Given the description of an element on the screen output the (x, y) to click on. 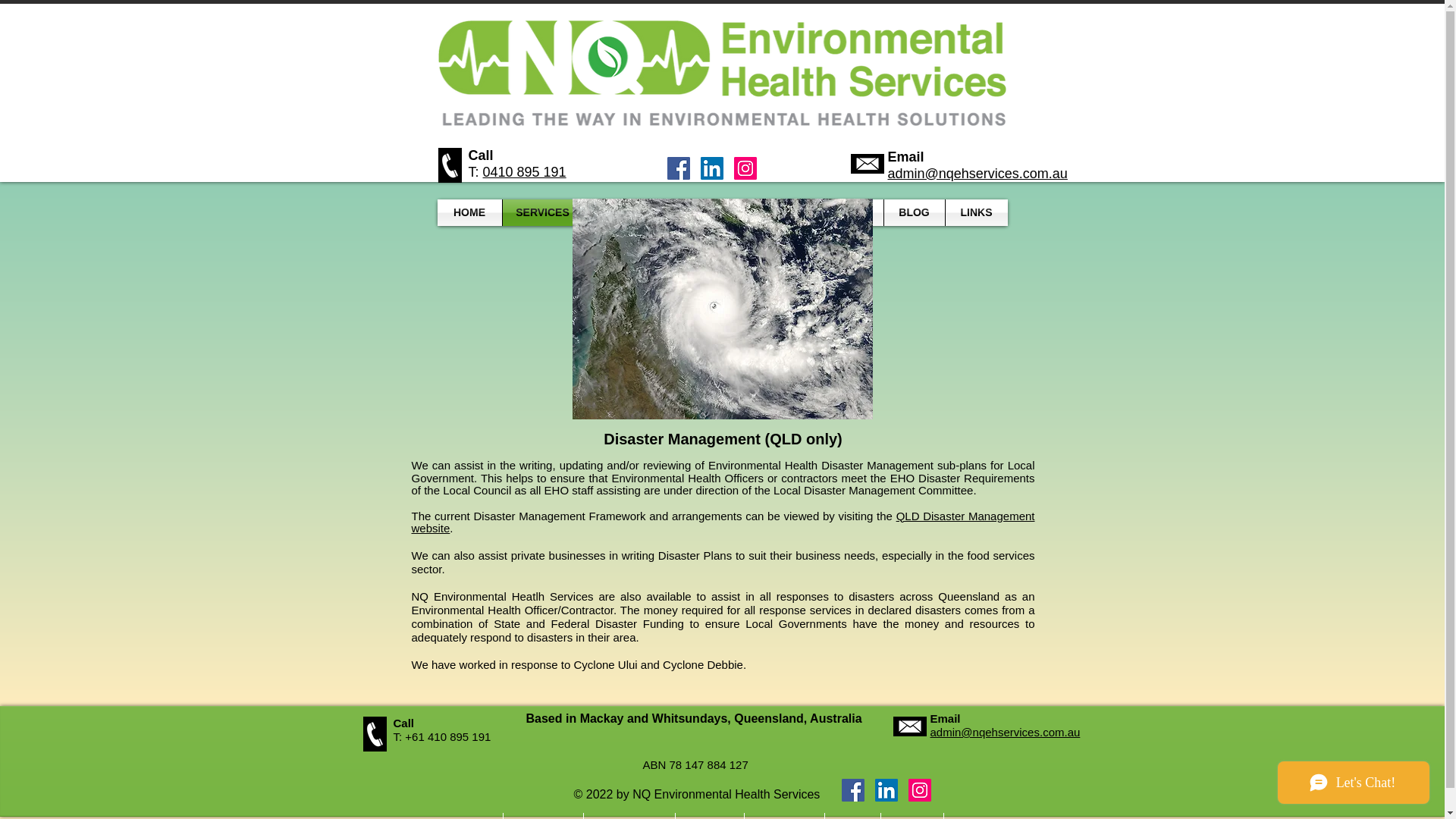
QLD Disaster Management website (721, 522)
FAQ (856, 212)
LINKS (975, 212)
HOME (468, 212)
ABOUT (712, 212)
0410 895 191 (524, 171)
BLOG (913, 212)
SERVICES (542, 212)
CONTACT (788, 212)
RESOURCES (630, 212)
